Given the description of an element on the screen output the (x, y) to click on. 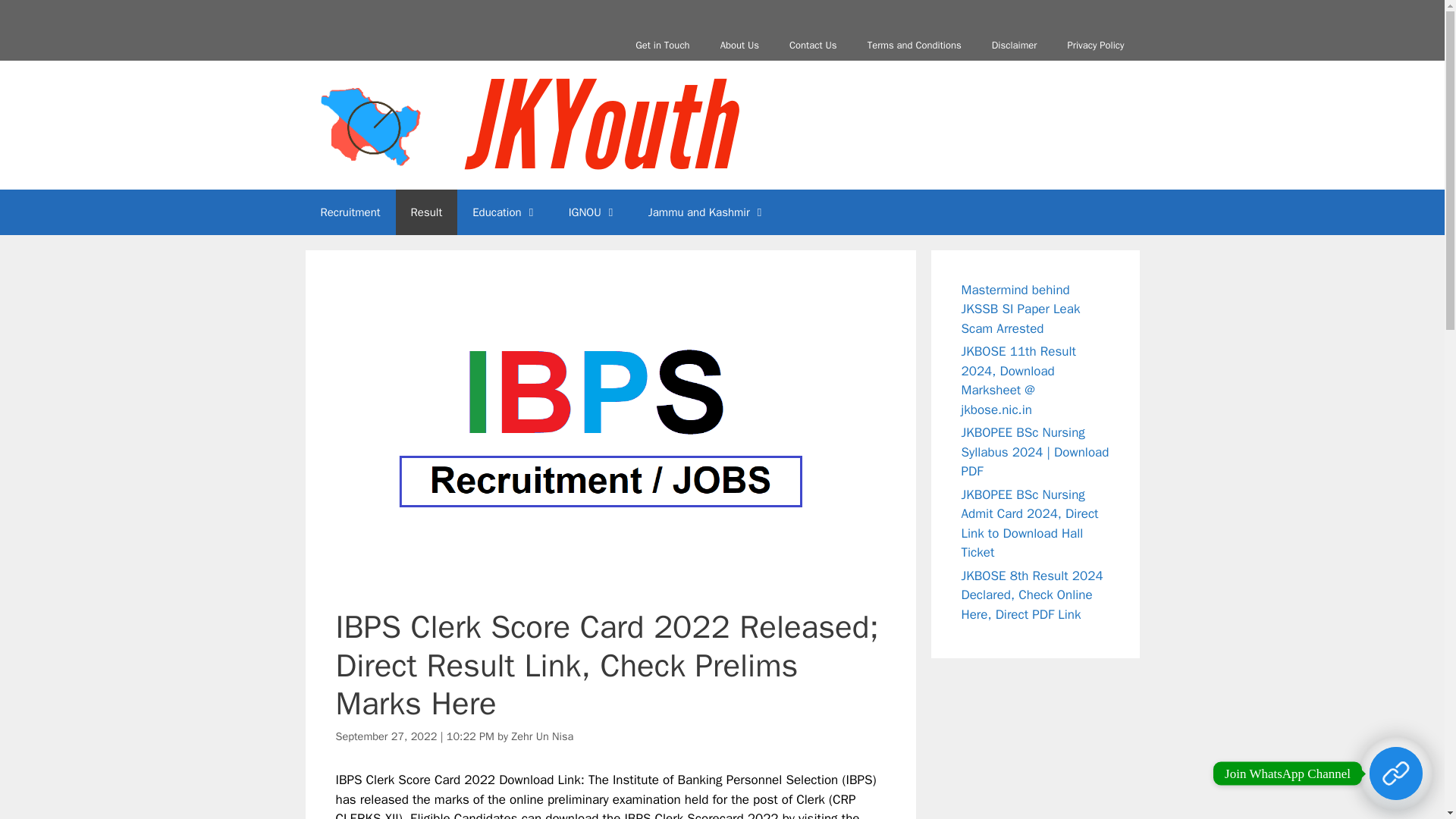
IGNOU (593, 212)
Result (427, 212)
Jammu and Kashmir (707, 212)
About Us (739, 45)
Contact Us (812, 45)
Mastermind behind JKSSB SI Paper Leak Scam Arrested (1020, 308)
Recruitment (349, 212)
Privacy Policy (1094, 45)
Education (505, 212)
